Given the description of an element on the screen output the (x, y) to click on. 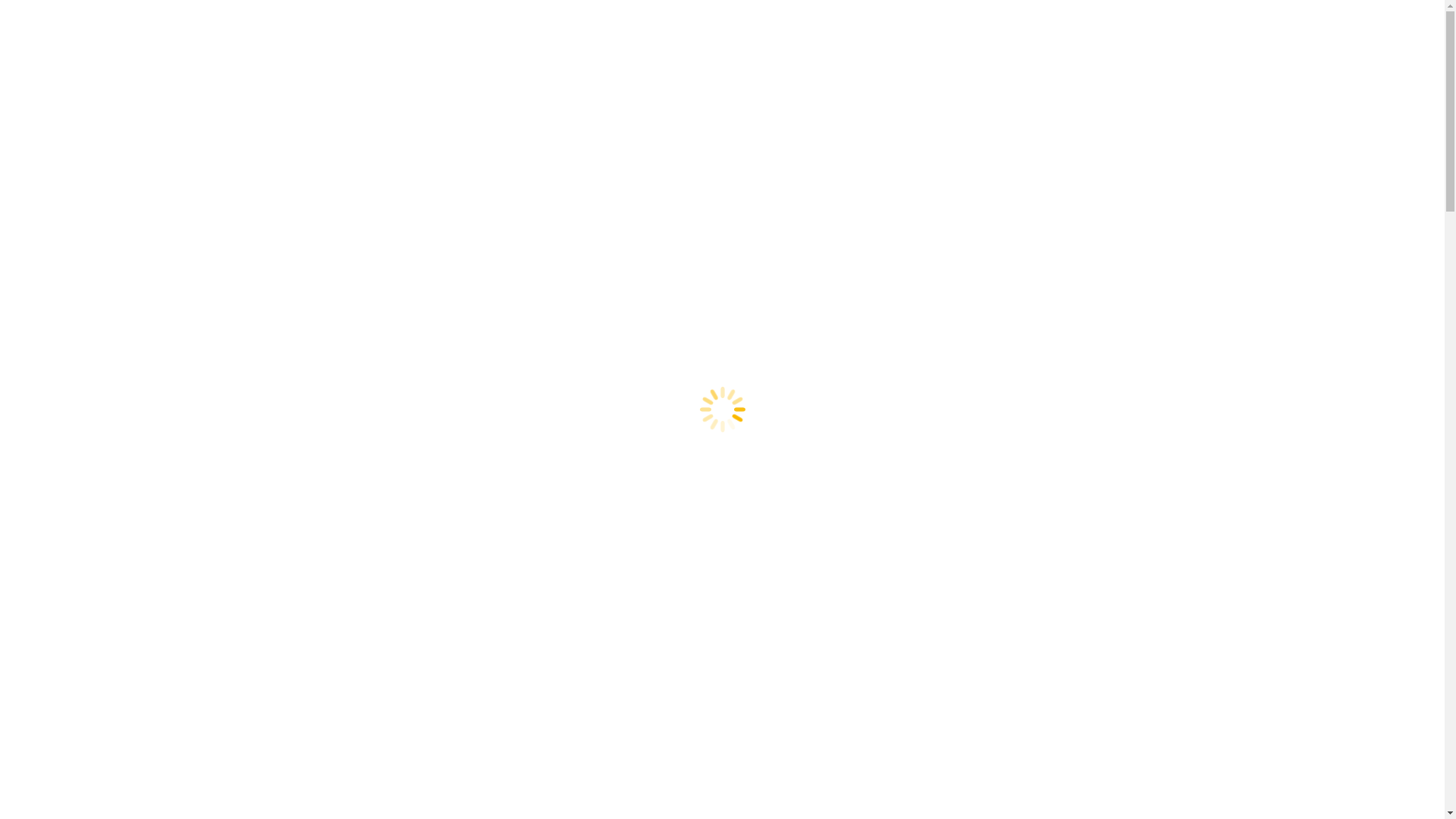
YouTube page opens in new window Element type: text (1167, 13)
Offertenanfragen Element type: text (986, 85)
Facebook page opens in new window Element type: text (1128, 13)
Linkedin page opens in new window Element type: text (1148, 13)
HEIZUNGSSYSTEME Element type: text (478, 181)
KONTAKT Element type: text (1130, 181)
ALLSOL GMBH Element type: text (944, 181)
KOMBINIERTE ENERGIESYSTEME Element type: text (661, 181)
REFERENZEN Element type: text (824, 181)
NEWS Element type: text (1046, 181)
Impressum Element type: text (384, 13)
PHOTOVOLTAIK Element type: text (333, 181)
